Given the description of an element on the screen output the (x, y) to click on. 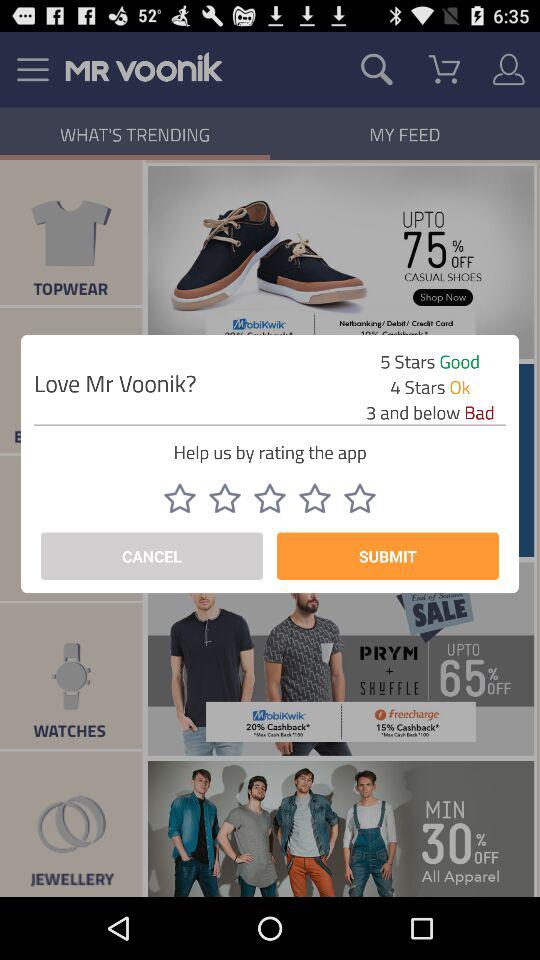
give a one star rating (180, 498)
